Given the description of an element on the screen output the (x, y) to click on. 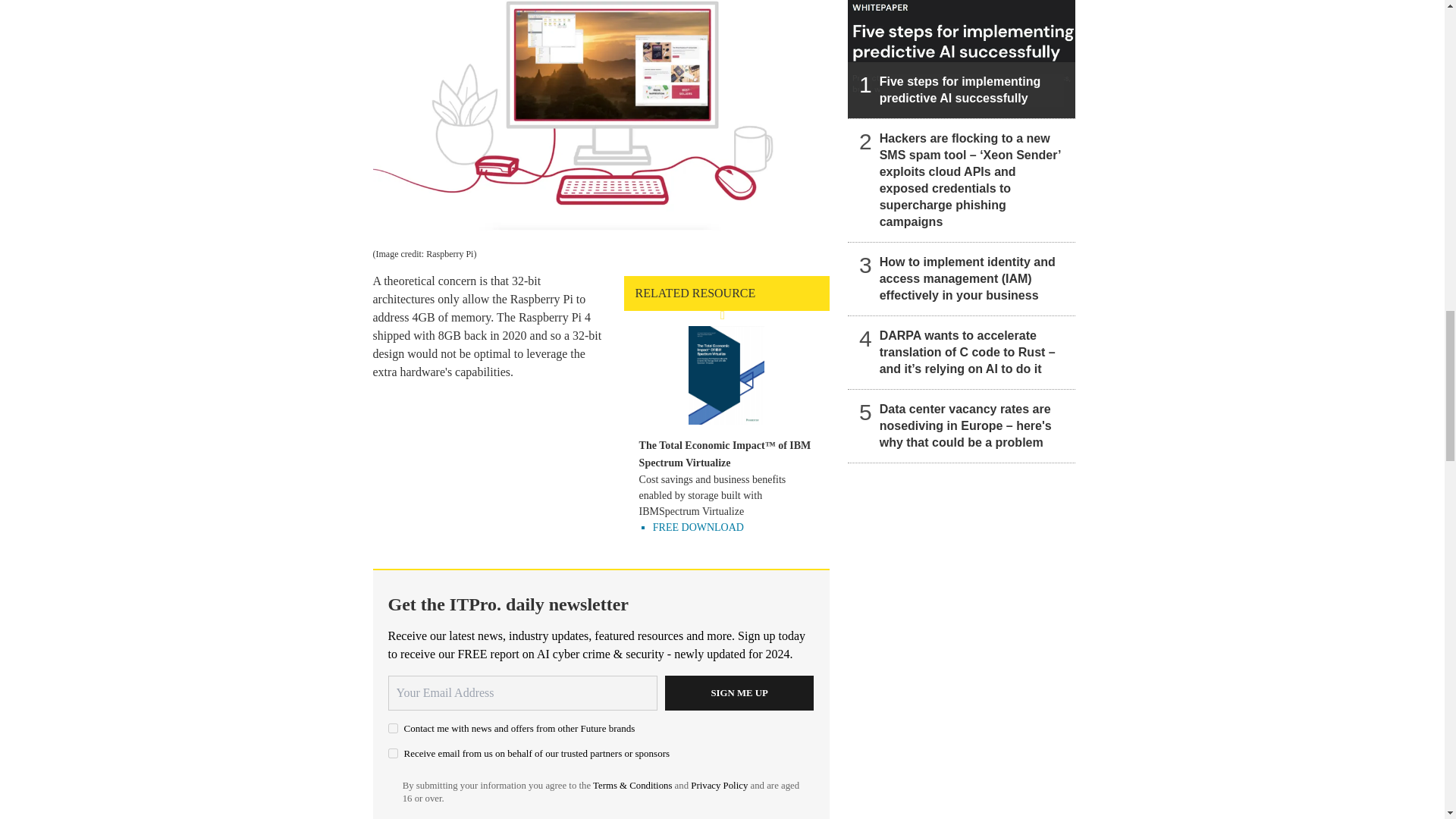
on (392, 728)
on (392, 753)
Sign me up (739, 692)
Five steps for implementing predictive AI successfully (961, 58)
